Given the description of an element on the screen output the (x, y) to click on. 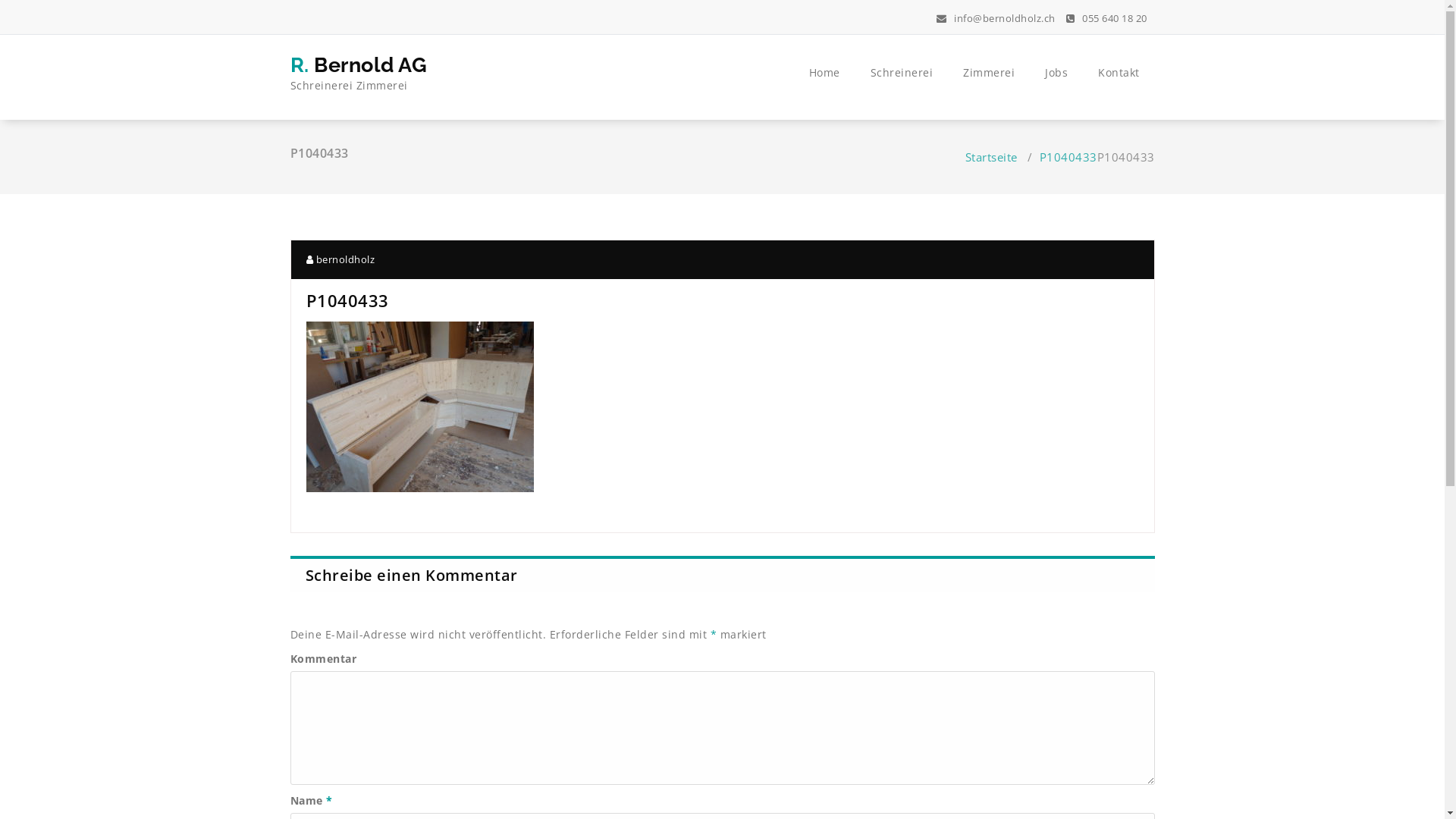
Schreinerei Element type: text (901, 72)
055 640 18 20 Element type: text (1106, 18)
Startseite Element type: text (990, 156)
Zimmerei Element type: text (988, 72)
info@bernoldholz.ch Element type: text (995, 18)
Jobs Element type: text (1055, 72)
bernoldholz Element type: text (340, 259)
Home Element type: text (823, 72)
Kontakt Element type: text (1118, 72)
P1040433 Element type: text (1067, 156)
R. Bernold AG
Schreinerei Zimmerei Element type: text (359, 77)
